Given the description of an element on the screen output the (x, y) to click on. 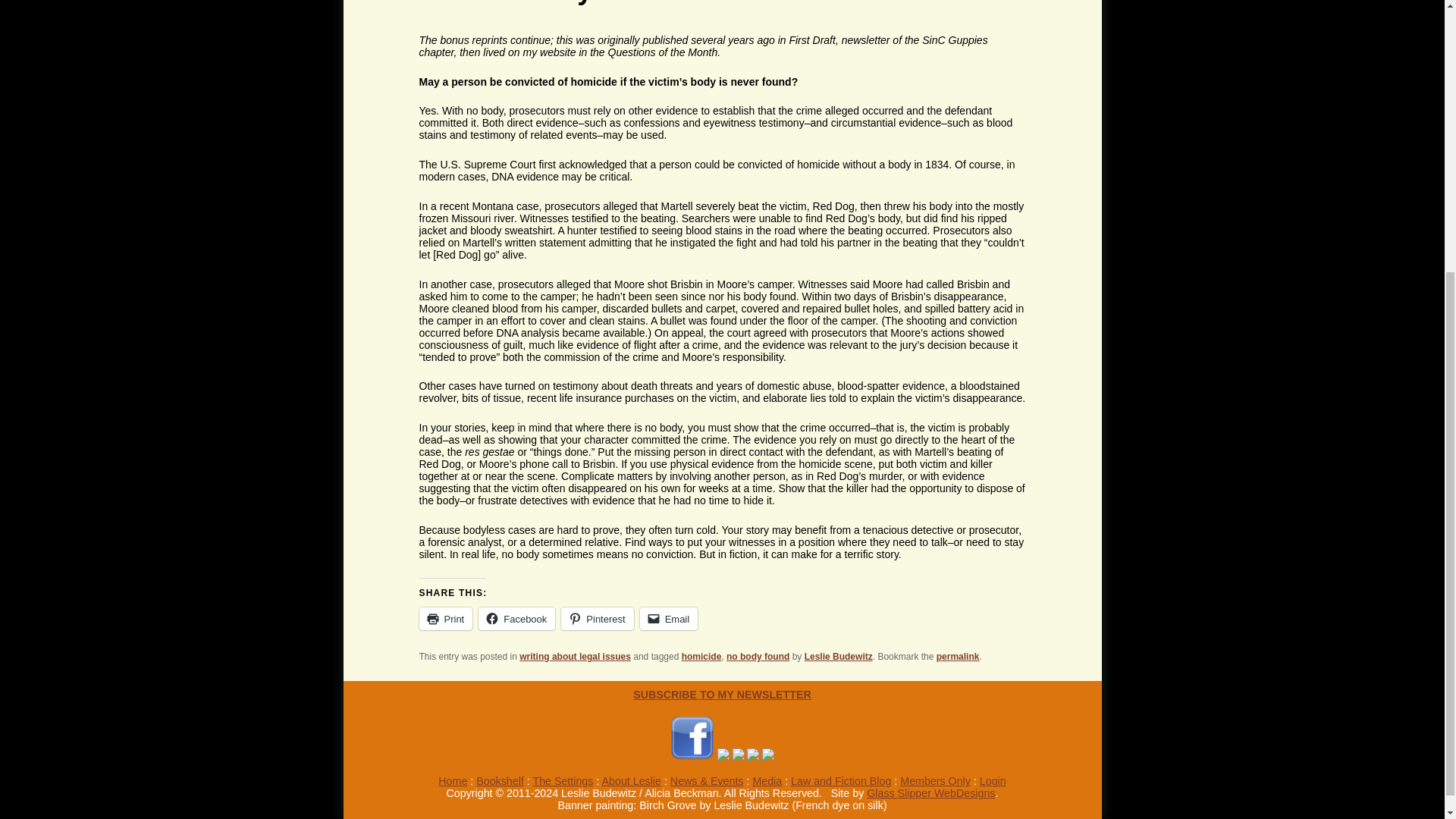
Bookshelf (500, 780)
Pinterest (596, 618)
no body found (757, 656)
homicide (701, 656)
Leslie Budewitz (838, 656)
Click to email a link to a friend (669, 618)
Email (669, 618)
writing about legal issues (574, 656)
Home (452, 780)
SUBSCRIBE TO MY NEWSLETTER (721, 694)
